Given the description of an element on the screen output the (x, y) to click on. 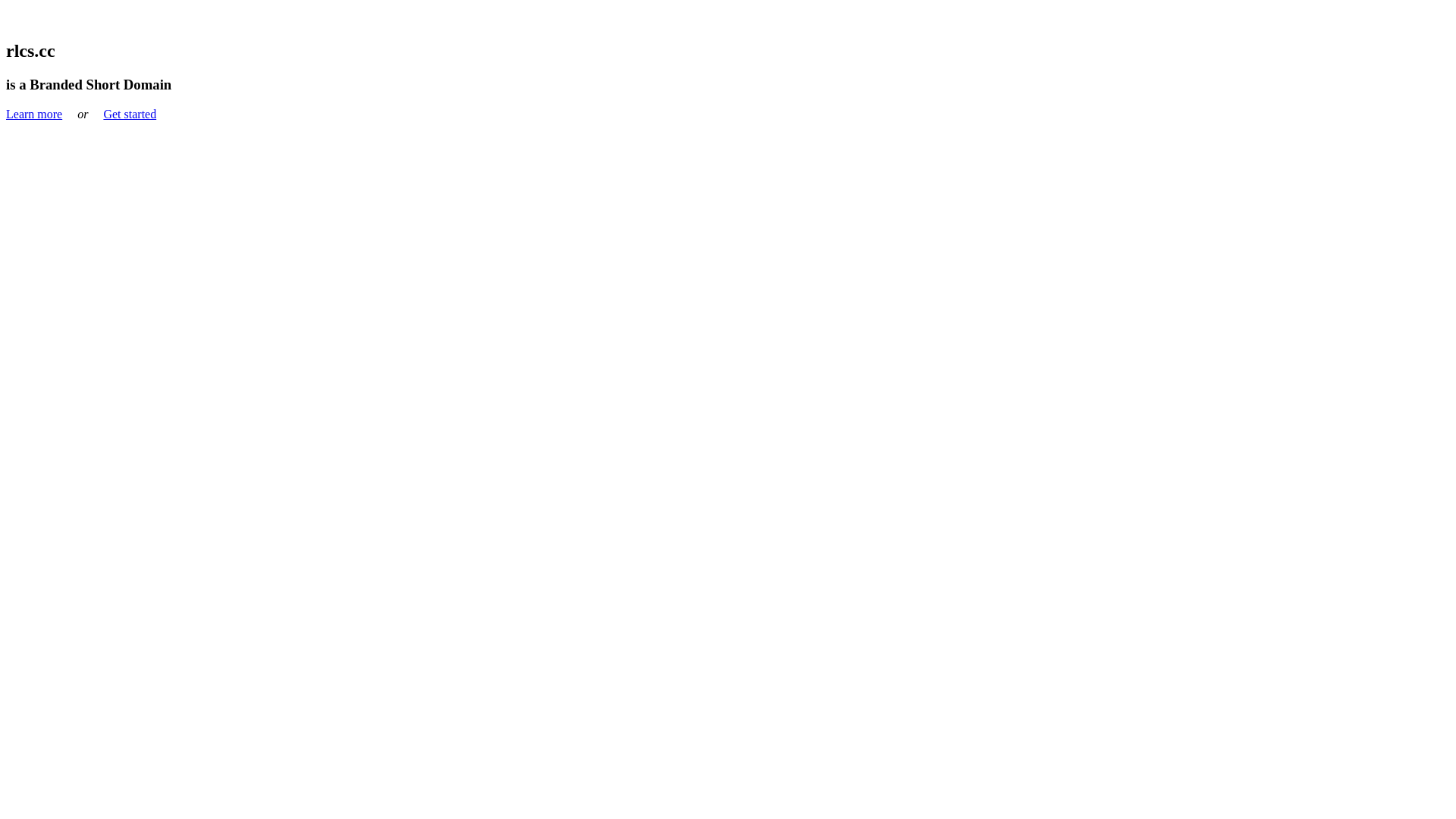
Get started Element type: text (129, 113)
Learn more Element type: text (34, 113)
